Given the description of an element on the screen output the (x, y) to click on. 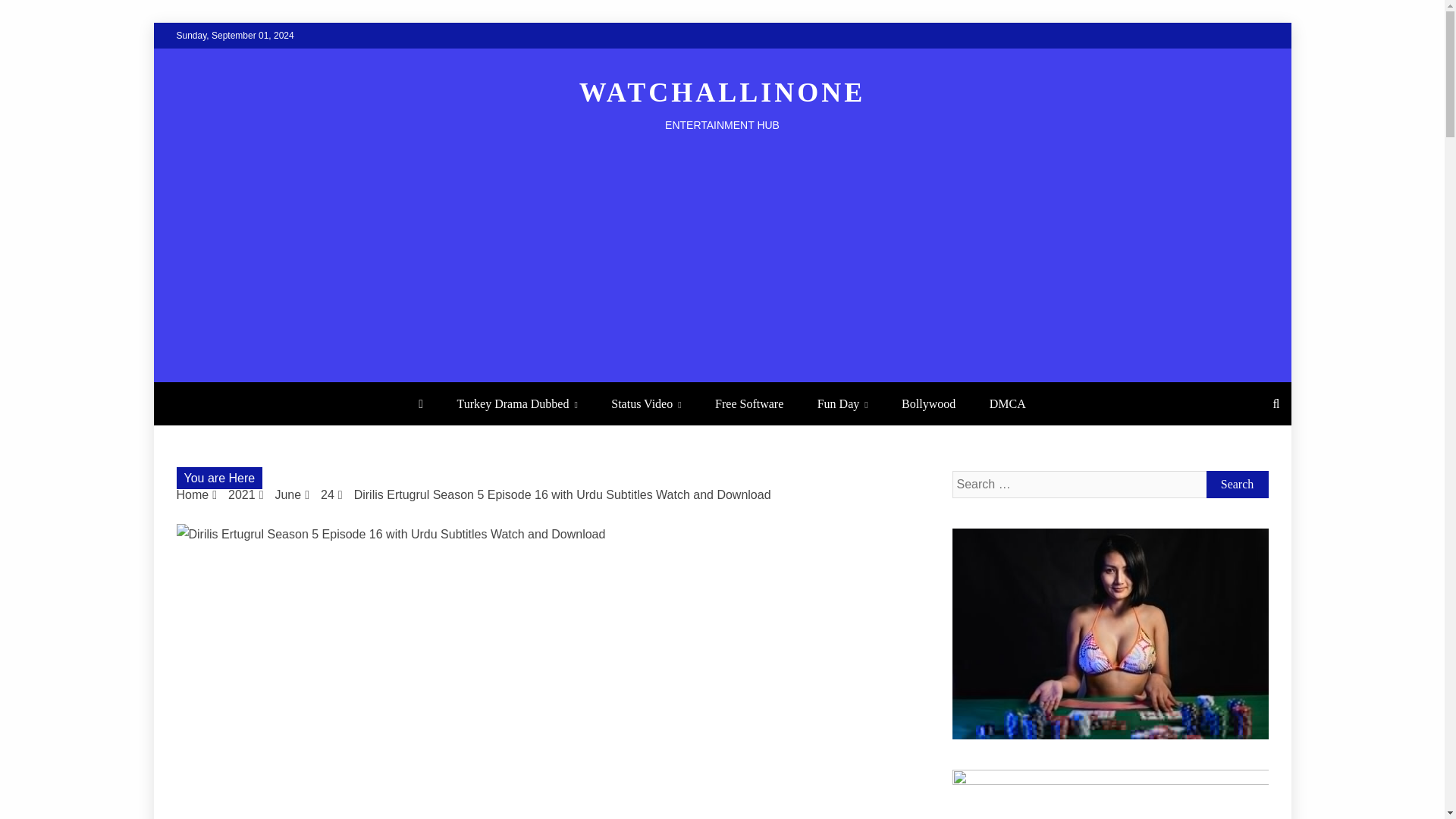
24 (327, 494)
Turkey Drama Dubbed (517, 403)
2021 (242, 494)
Status Video (645, 403)
Free Software (748, 403)
Search (1236, 483)
Bollywood (928, 403)
June (288, 494)
DMCA (1007, 403)
